Given the description of an element on the screen output the (x, y) to click on. 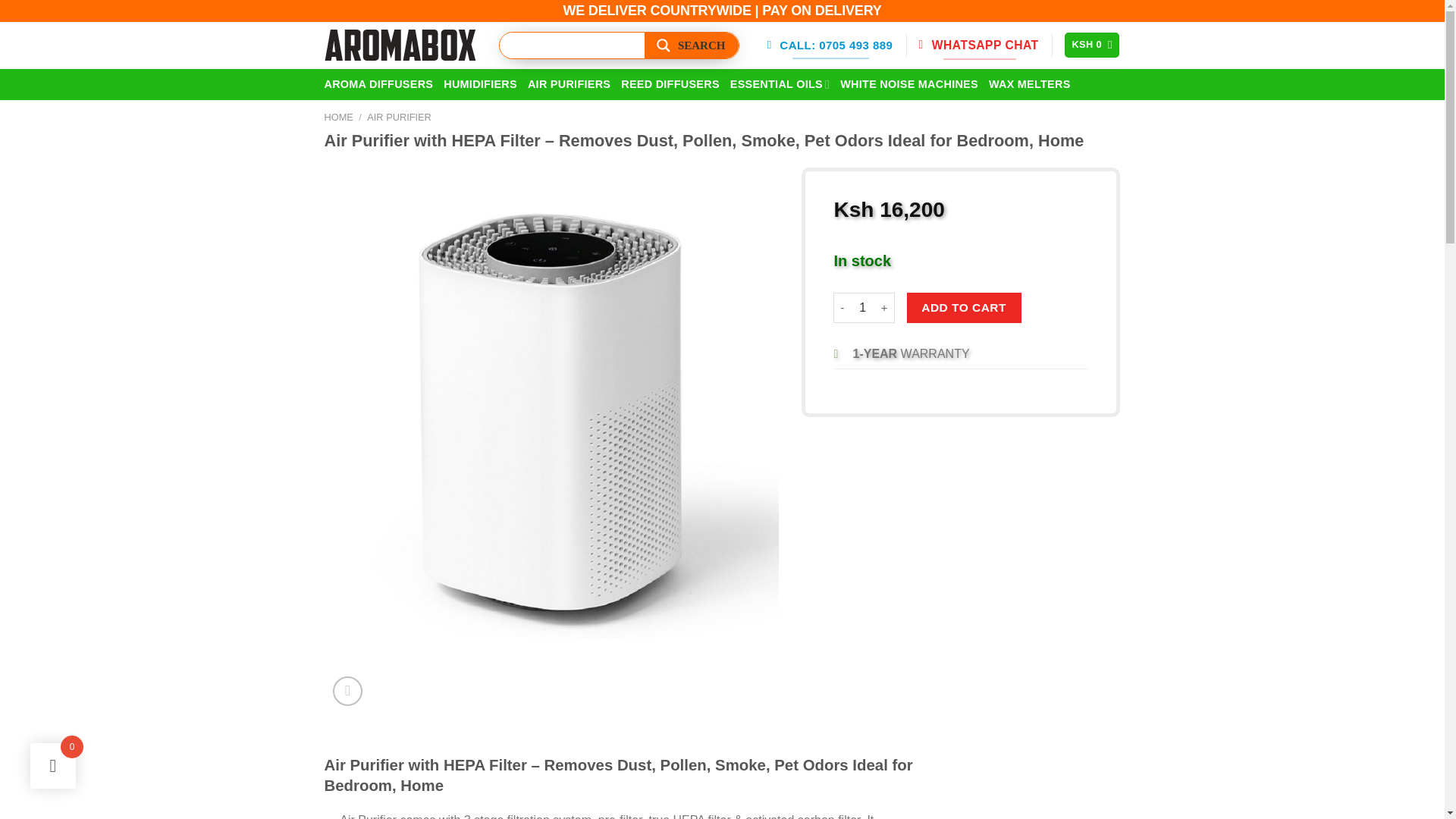
Cart (1091, 44)
ESSENTIAL OILS (779, 83)
CALL: 0705 493 889 (831, 45)
ADD TO CART (964, 307)
HUMIDIFIERS (480, 83)
WHITE NOISE MACHINES (909, 83)
WAX MELTERS (1029, 83)
HOME (338, 116)
REED DIFFUSERS (670, 83)
Zoom (347, 690)
AROMA DIFFUSERS (378, 83)
KSH 0 (1091, 44)
SEARCH (692, 45)
AIR PURIFIERS (568, 83)
AromaBox (400, 44)
